Given the description of an element on the screen output the (x, y) to click on. 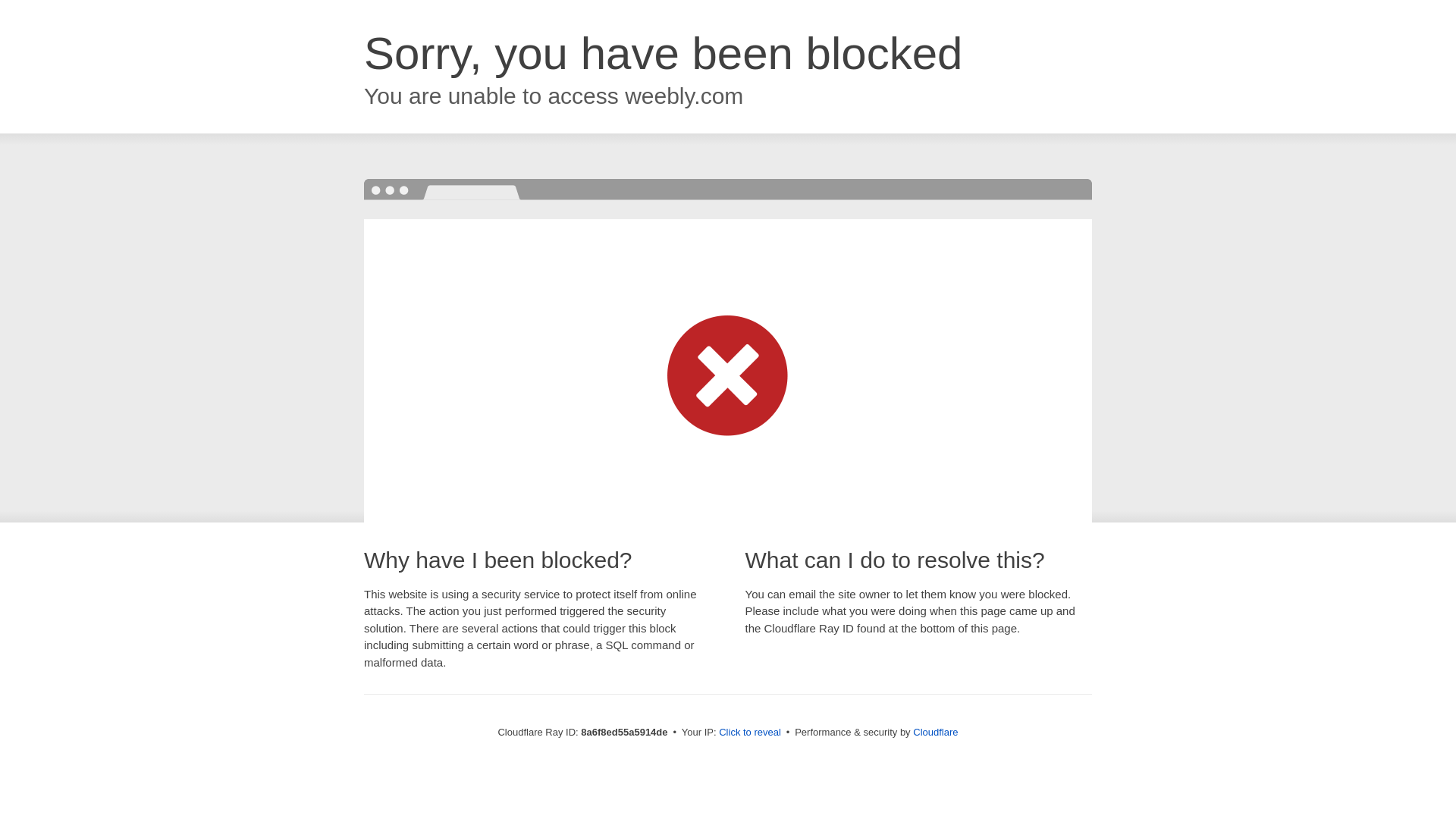
Click to reveal (749, 732)
Cloudflare (935, 731)
